Given the description of an element on the screen output the (x, y) to click on. 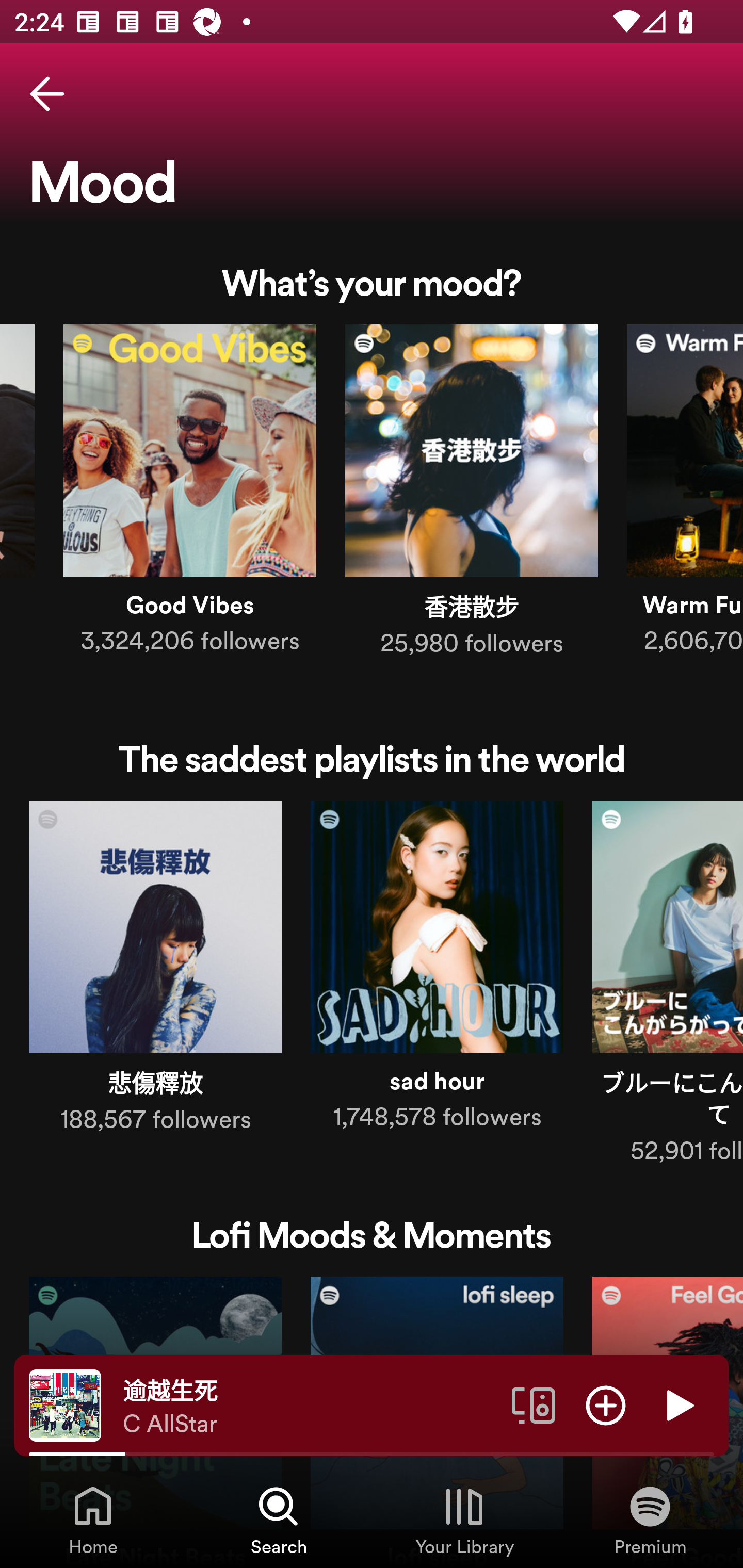
Back (46, 93)
香港散步
25,980 followers 香港散步 25,980 followers (471, 494)
悲傷釋放
188,567 followers 悲傷釋放 188,567 followers (154, 971)
逾越生死 C AllStar (309, 1405)
The cover art of the currently playing track (64, 1404)
Connect to a device. Opens the devices menu (533, 1404)
Add item (605, 1404)
Play (677, 1404)
Home, Tab 1 of 4 Home Home (92, 1519)
Search, Tab 2 of 4 Search Search (278, 1519)
Your Library, Tab 3 of 4 Your Library Your Library (464, 1519)
Premium, Tab 4 of 4 Premium Premium (650, 1519)
